Given the description of an element on the screen output the (x, y) to click on. 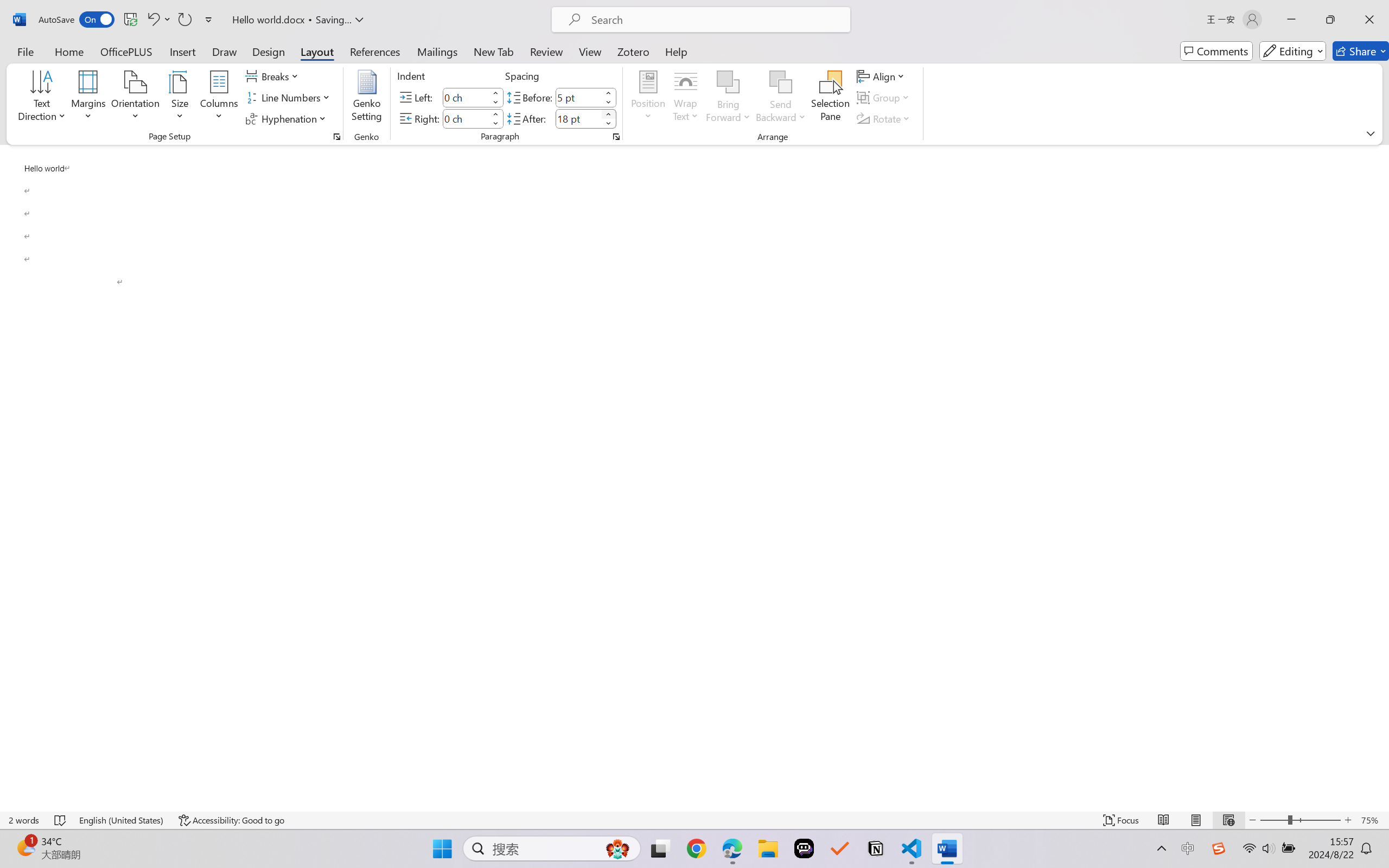
AutomationID: BadgeAnchorLargeTicker (24, 847)
Customize Quick Access Toolbar (208, 19)
Bring Forward (728, 97)
View (589, 51)
Zoom Out (1273, 819)
AutomationID: DynamicSearchBoxGleamImage (617, 848)
More Options (781, 112)
Text Direction (42, 97)
Indent Left (465, 96)
Class: Image (1218, 847)
Spacing Before (578, 96)
Selection Pane... (830, 97)
